Given the description of an element on the screen output the (x, y) to click on. 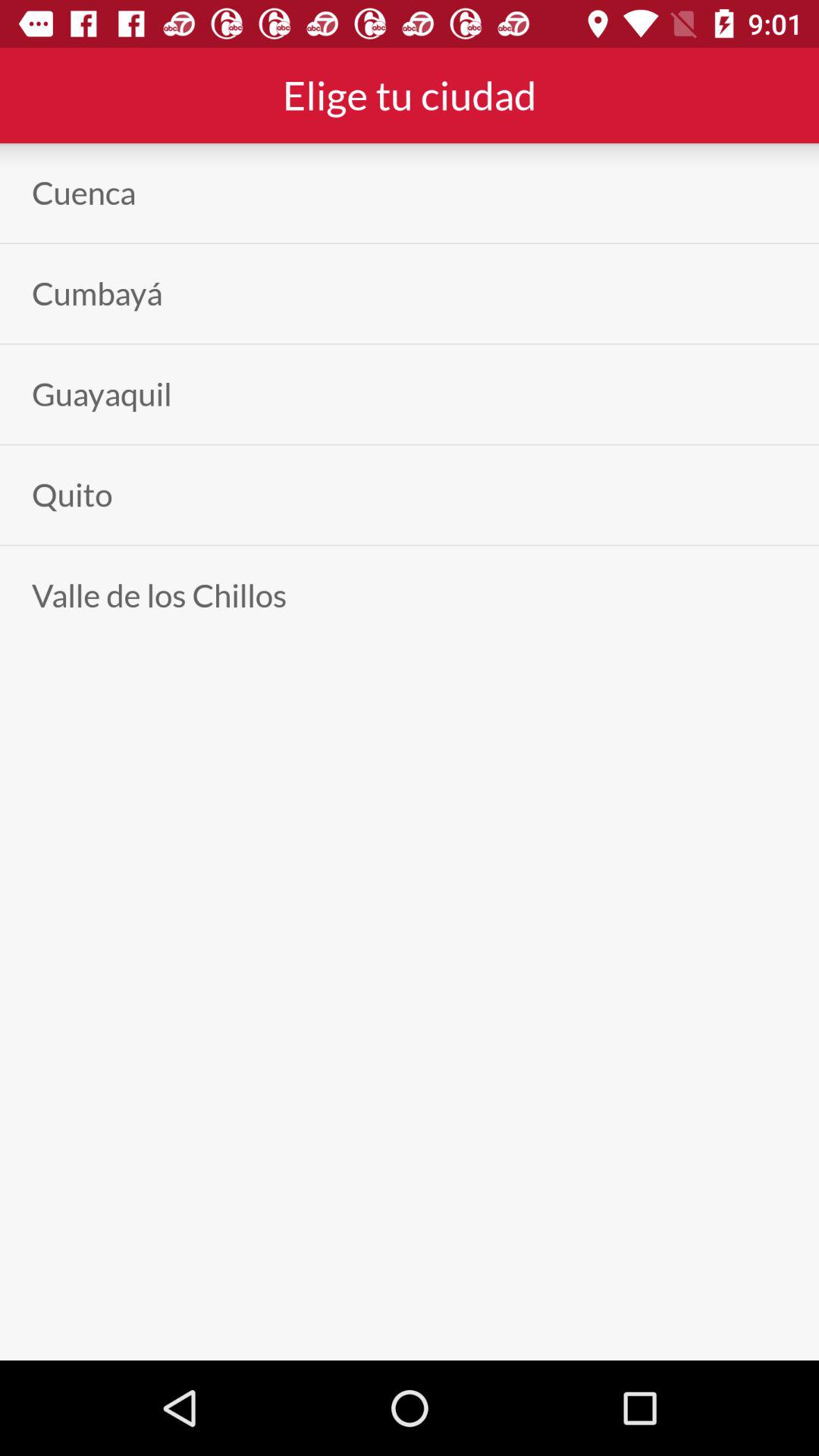
press valle de los icon (158, 595)
